Given the description of an element on the screen output the (x, y) to click on. 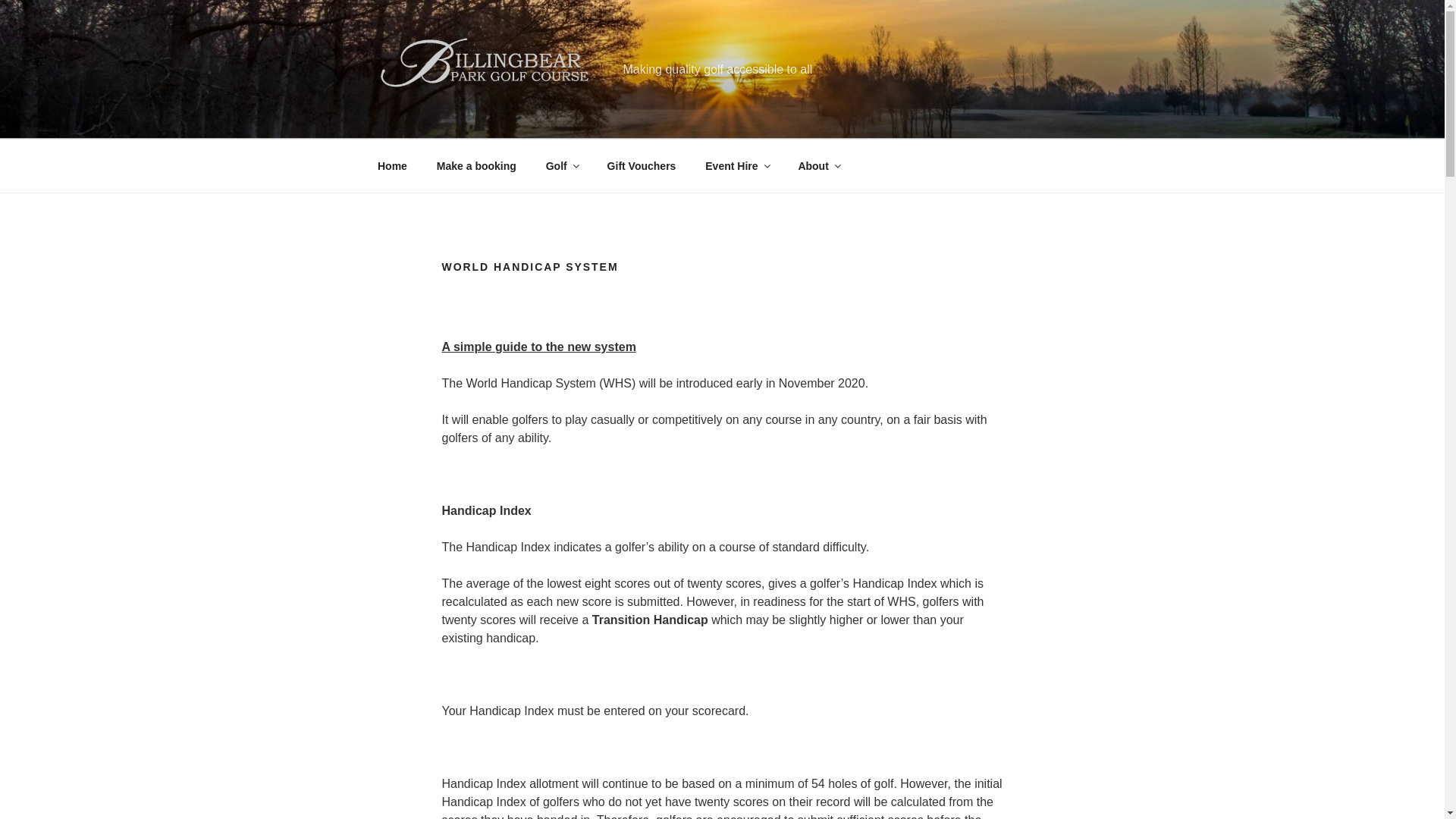
About (817, 165)
Event Hire (737, 165)
Home (392, 165)
Make a booking (476, 165)
Gift Vouchers (641, 165)
Golf (561, 165)
